Given the description of an element on the screen output the (x, y) to click on. 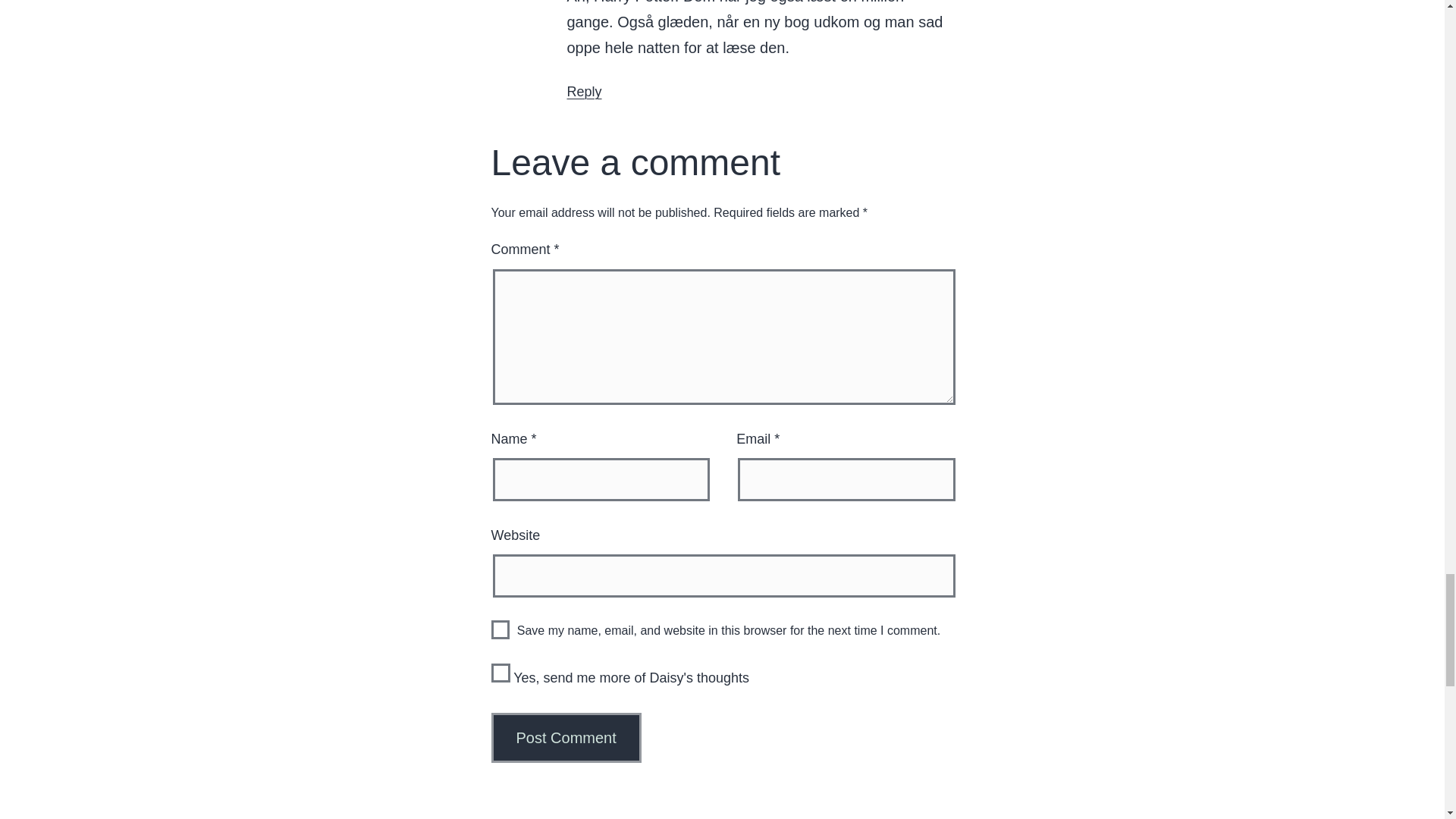
Post Comment (567, 737)
1 (501, 672)
Post Comment (567, 737)
yes (500, 629)
Reply (584, 91)
